Given the description of an element on the screen output the (x, y) to click on. 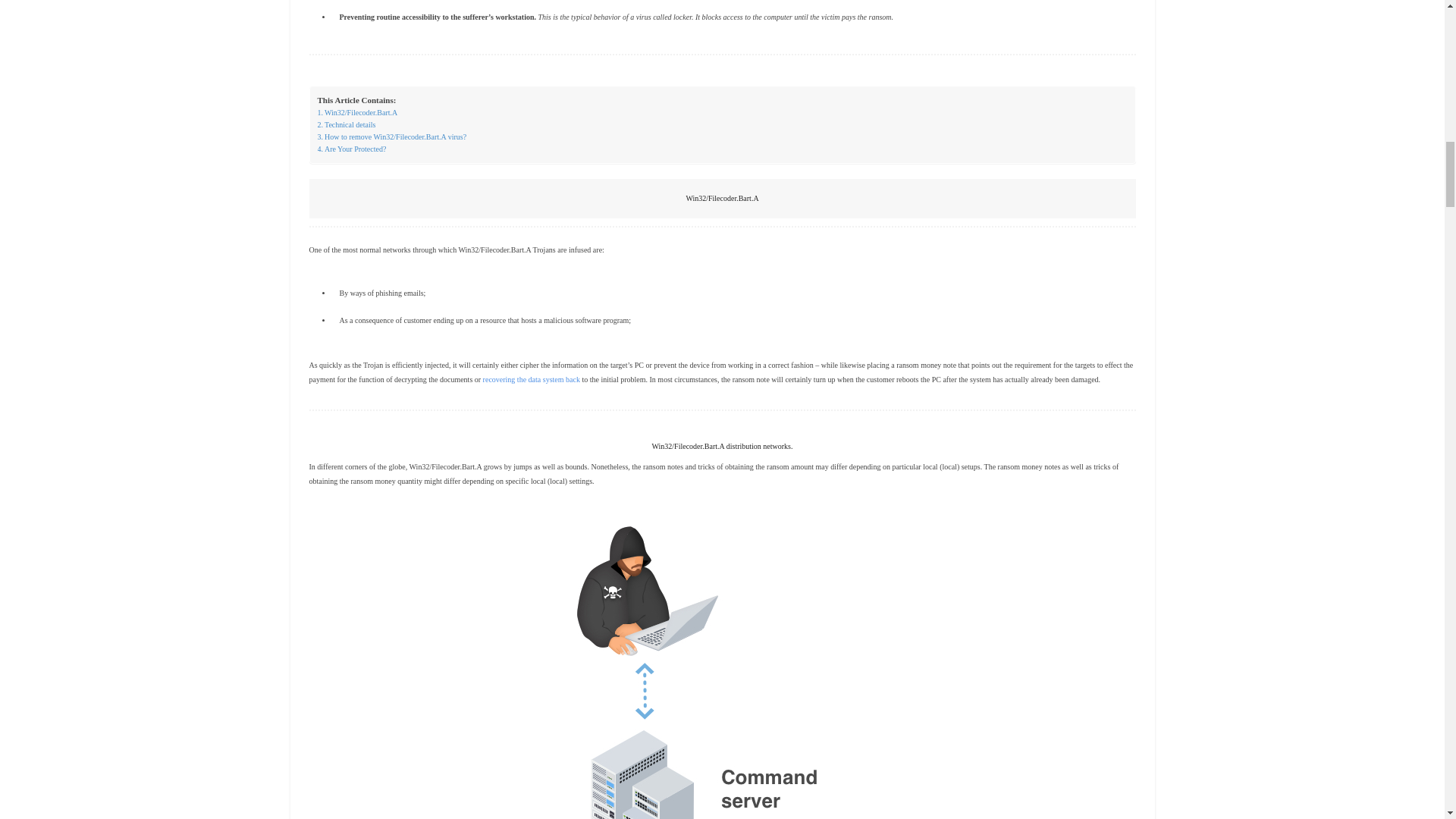
recovering the data system back (531, 379)
Are Your Protected? (351, 149)
Technical details (346, 124)
Are Your Protected? (351, 149)
Technical details (346, 124)
